Given the description of an element on the screen output the (x, y) to click on. 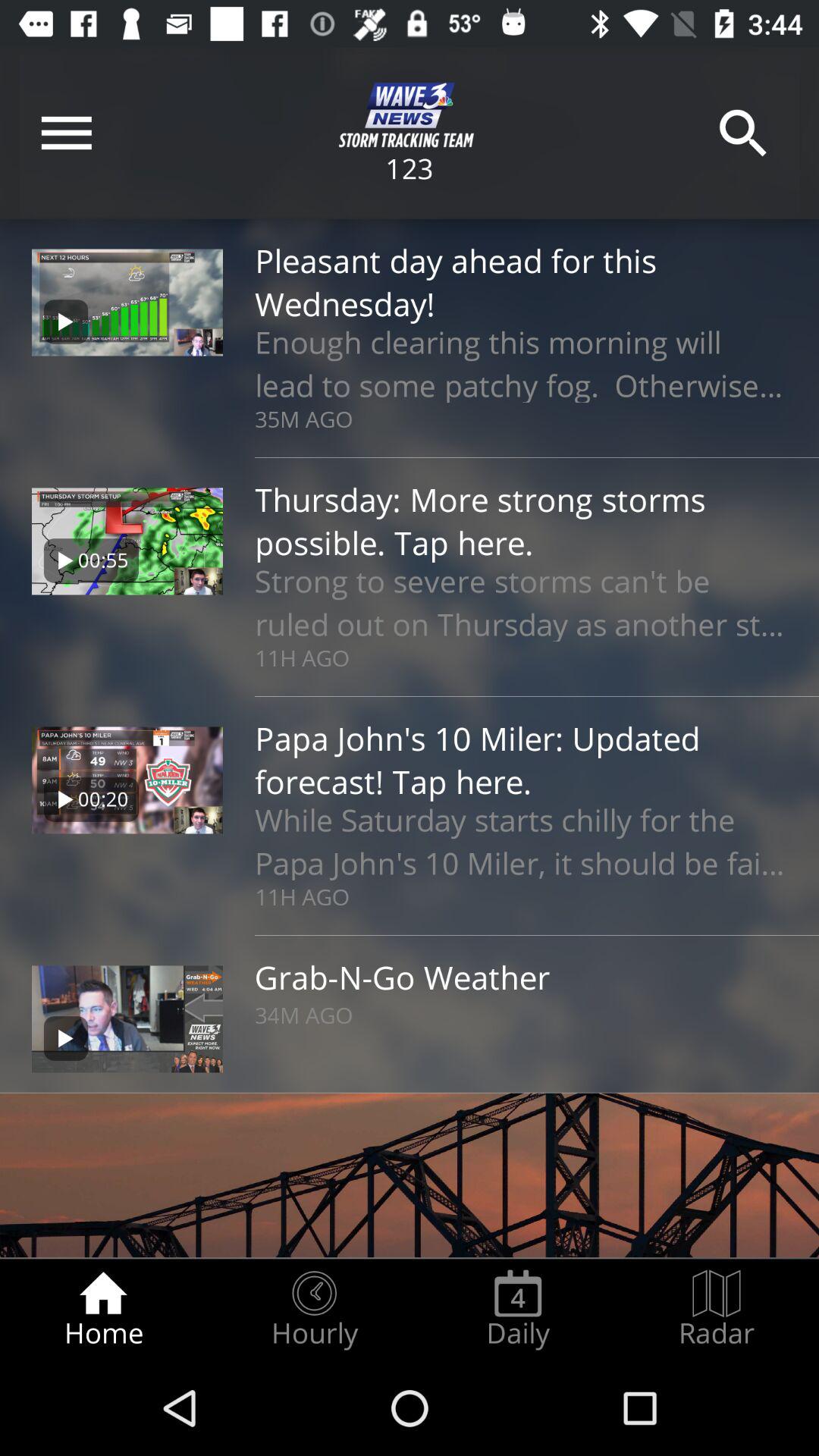
select item to the left of the hourly radio button (103, 1309)
